Given the description of an element on the screen output the (x, y) to click on. 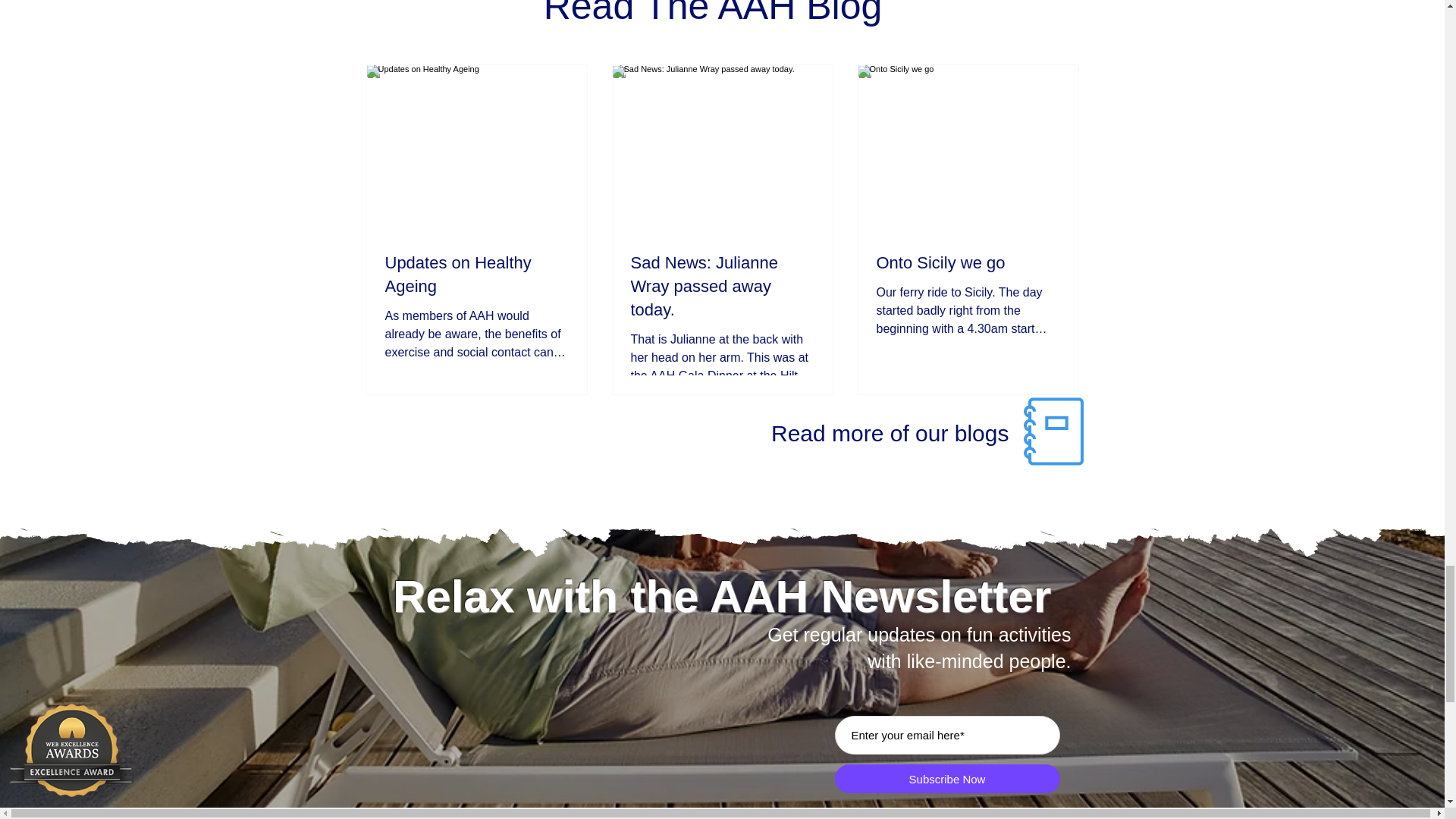
Onto Sicily we go (967, 263)
Subscribe Now (946, 778)
Read more of our blogs (890, 432)
Sad News: Julianne Wray passed away today. (721, 286)
Updates on Healthy Ageing (477, 274)
